Given the description of an element on the screen output the (x, y) to click on. 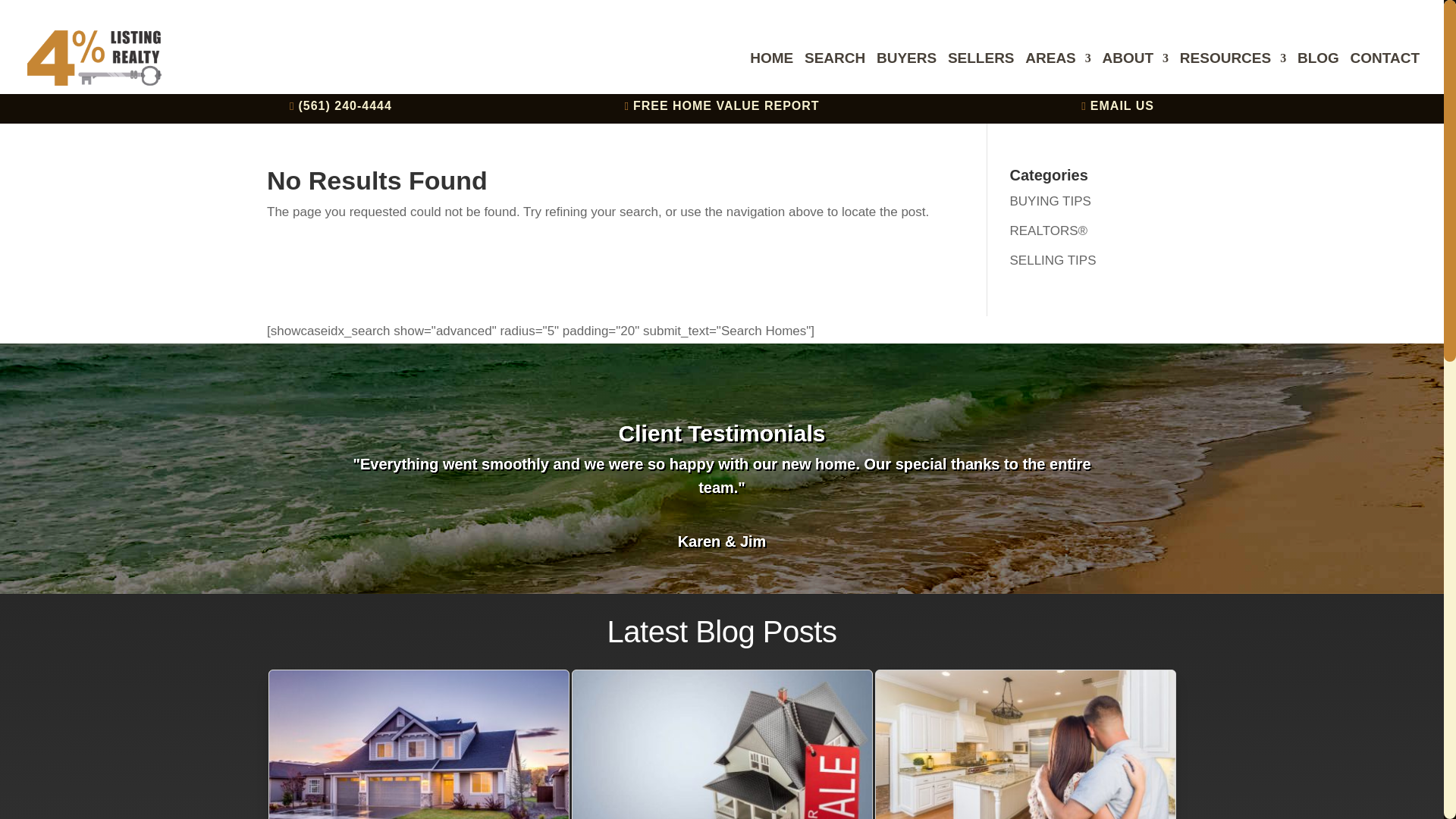
SELLERS (980, 73)
RESOURCES (1232, 73)
AREAS (1057, 73)
EMAIL US (1122, 105)
FREE HOME VALUE REPORT (726, 105)
SEARCH (834, 73)
ABOUT (1135, 73)
HOME (771, 73)
BUYERS (906, 73)
